Given the description of an element on the screen output the (x, y) to click on. 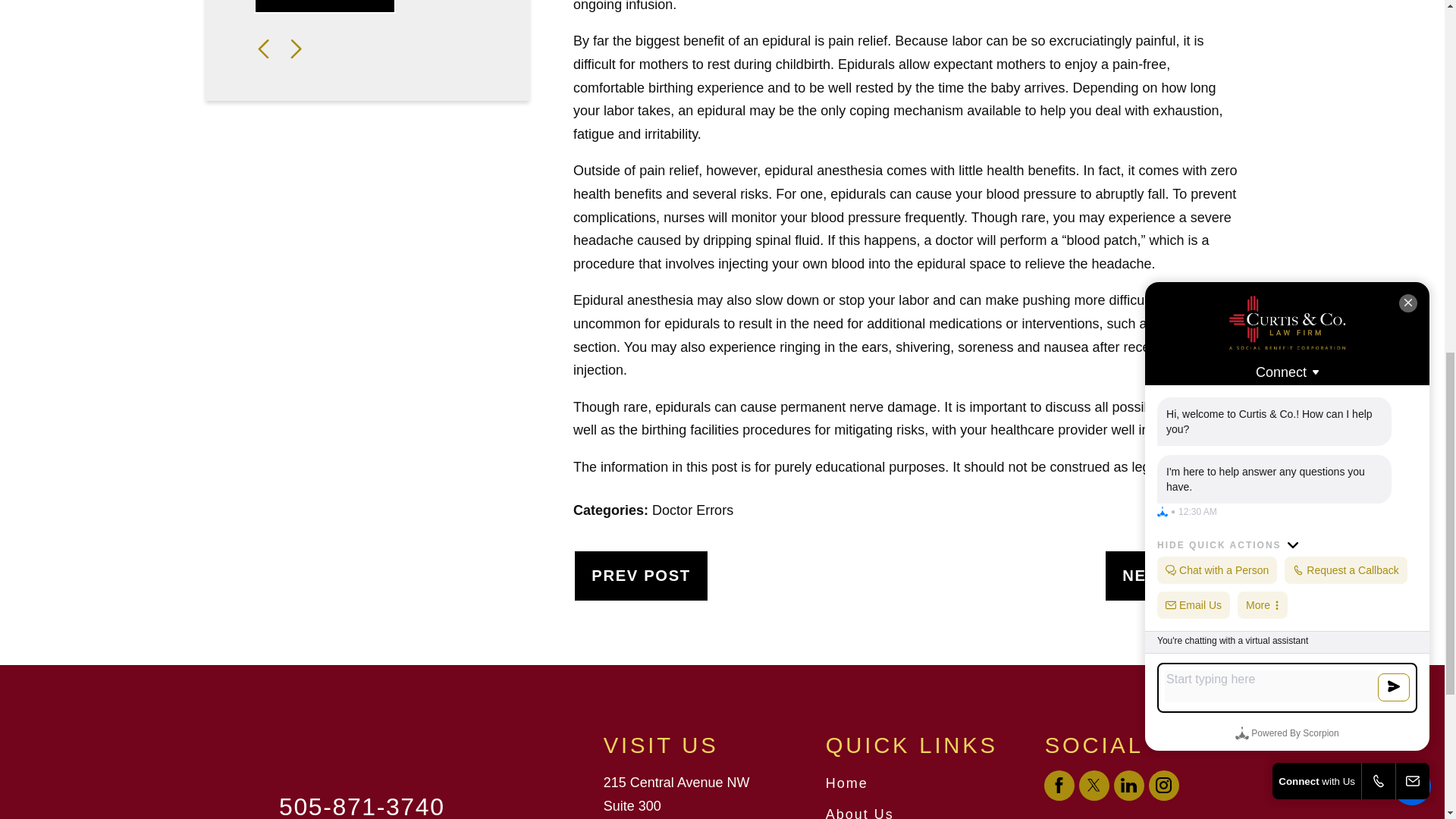
Twitter (1093, 785)
Instagram (1163, 785)
Doctor Errors (692, 509)
Facebook (1058, 785)
View next item (295, 48)
READ MORE (324, 6)
View previous item (263, 48)
PREV POST (641, 575)
NEXT POST (1171, 575)
LinkedIn (1128, 785)
